Given the description of an element on the screen output the (x, y) to click on. 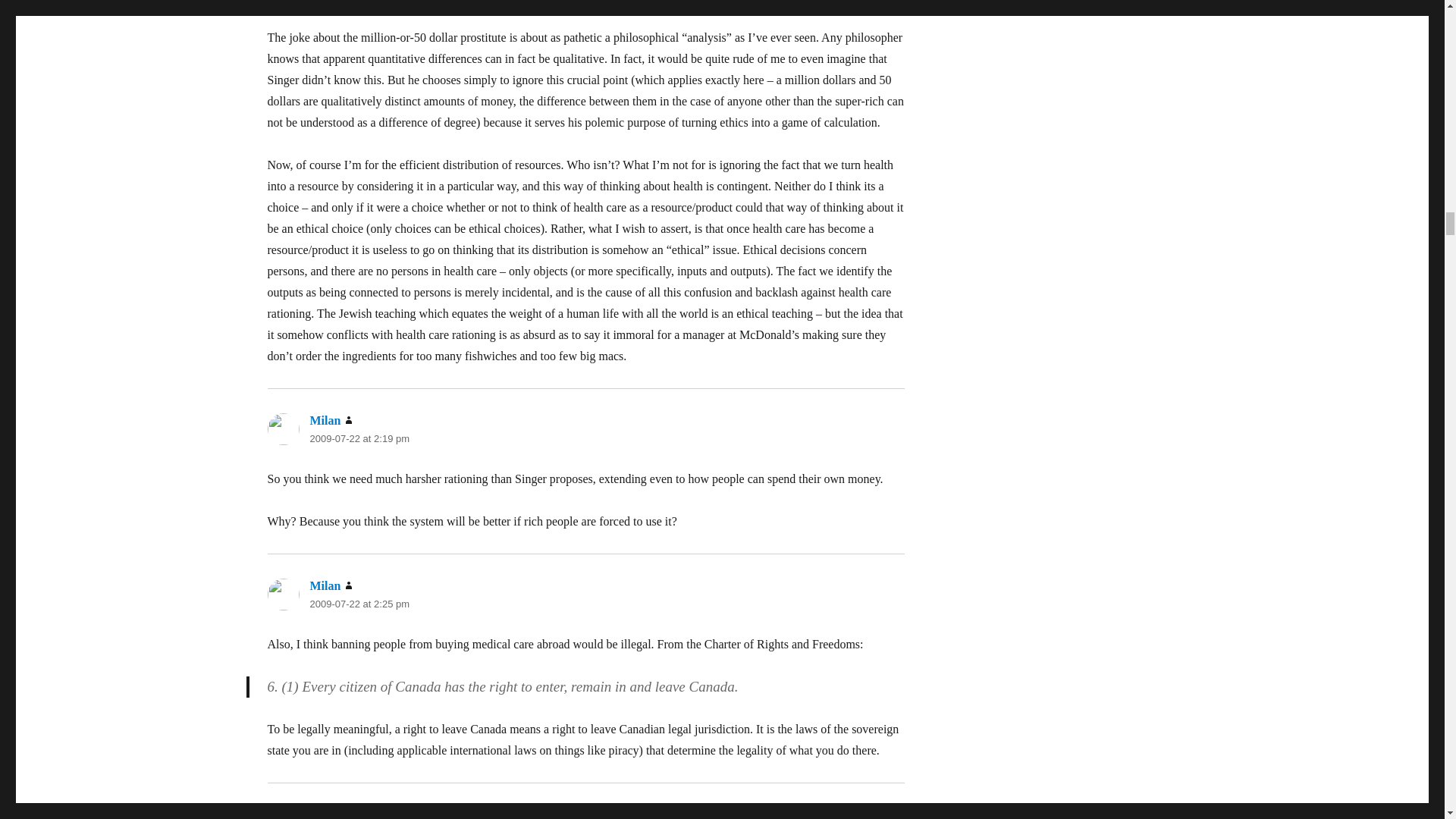
Milan (324, 585)
2009-07-22 at 2:19 pm (358, 438)
2009-07-22 at 2:25 pm (358, 603)
Milan (324, 420)
